Given the description of an element on the screen output the (x, y) to click on. 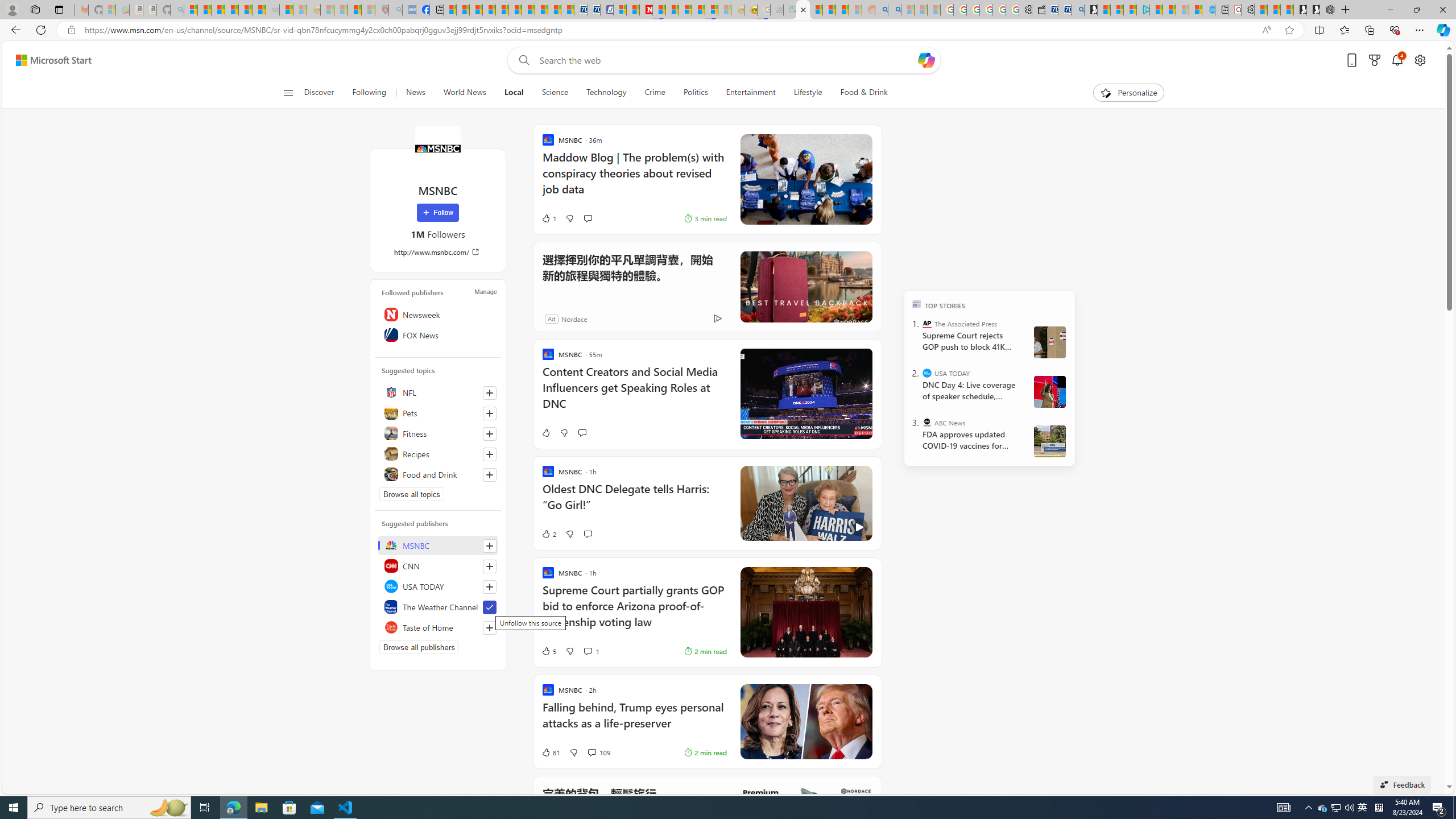
View comments 109 Comment (591, 751)
CNN (437, 565)
View comments 109 Comment (598, 752)
New Report Confirms 2023 Was Record Hot | Watch (245, 9)
